Given the description of an element on the screen output the (x, y) to click on. 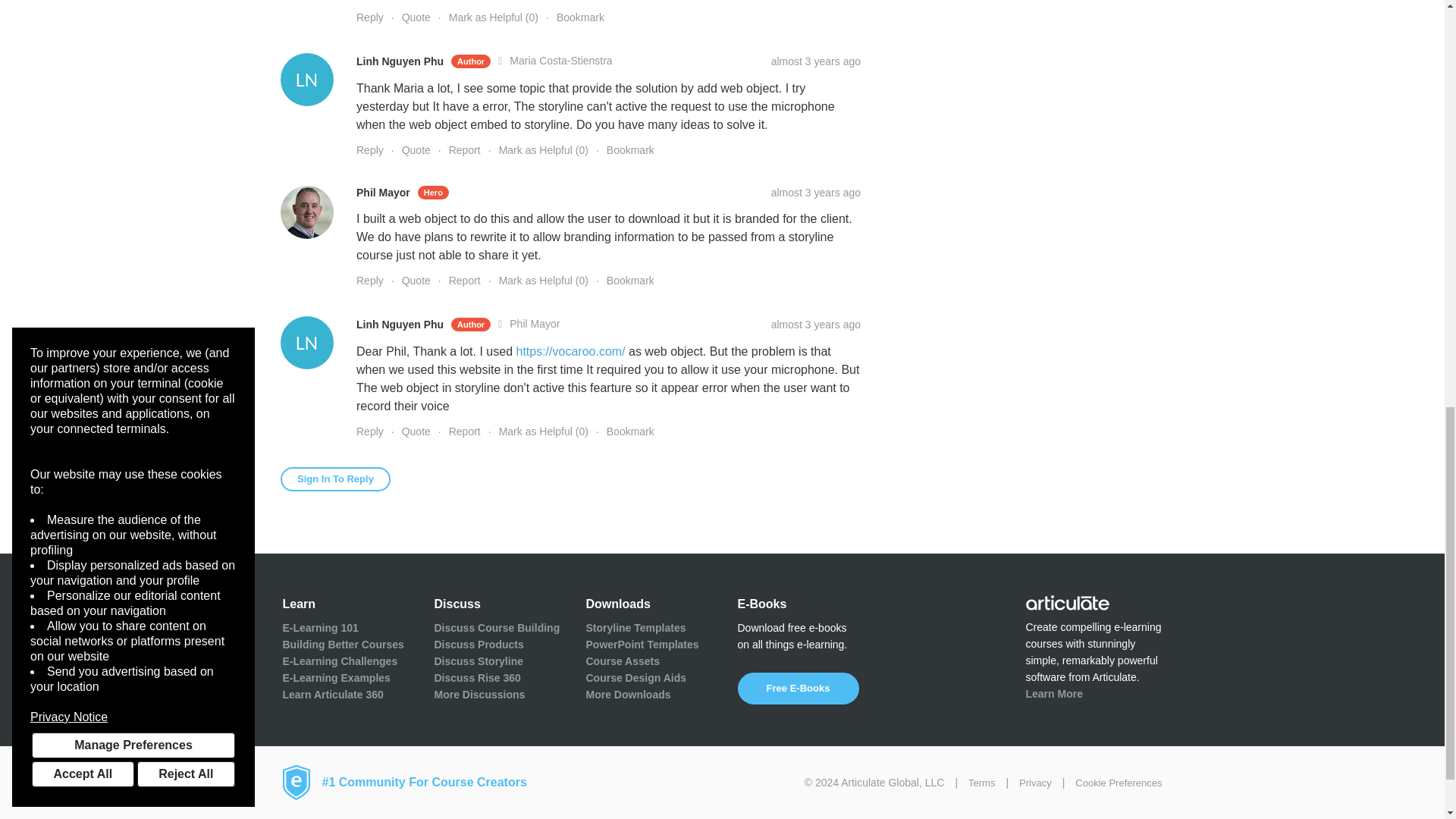
Linh Nguyen Phu (307, 79)
Copy URL to Clipboard (815, 61)
Phil Mayor (307, 212)
Linh Nguyen Phu (307, 342)
Copy URL to Clipboard (815, 324)
Copy URL to Clipboard (815, 192)
